Given the description of an element on the screen output the (x, y) to click on. 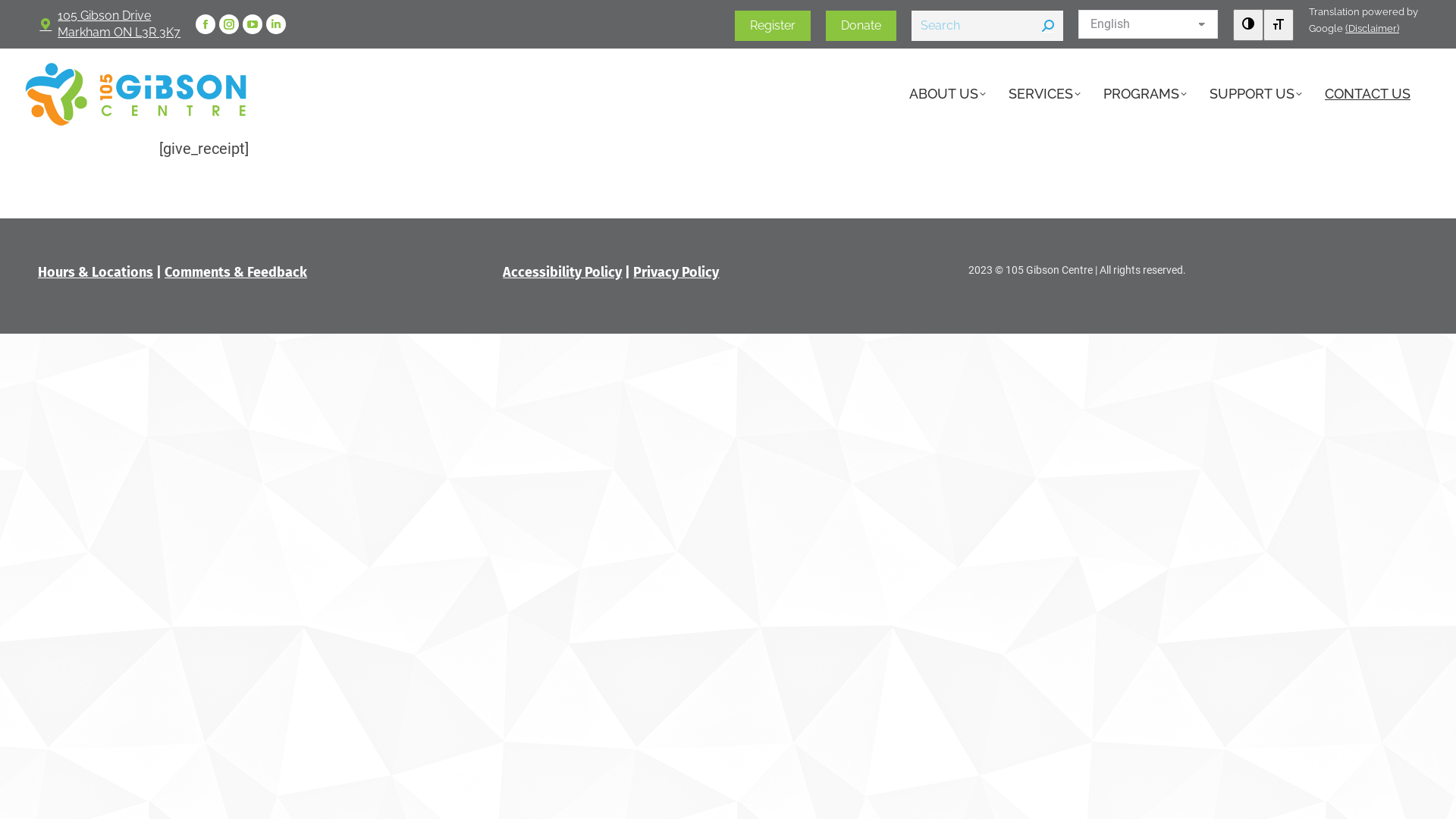
105 Gibson Drive
Markham ON L3R 3K7 Element type: text (108, 23)
Register Element type: text (772, 25)
SERVICES Element type: text (1055, 93)
Hours & Locations Element type: text (95, 271)
Linkedin page opens in new window Element type: text (275, 24)
Facebook page opens in new window Element type: text (205, 24)
PROGRAMS Element type: text (1156, 93)
SUPPORT US Element type: text (1266, 93)
Comments & Feedback Element type: text (235, 271)
Go! Element type: text (24, 15)
Donate Element type: text (860, 25)
Accessibility Policy Element type: text (561, 271)
CONTACT US Element type: text (1378, 93)
YouTube page opens in new window Element type: text (252, 24)
Privacy Policy Element type: text (675, 271)
(Disclaimer) Element type: text (1372, 28)
Instagram page opens in new window Element type: text (228, 24)
ABOUT US Element type: text (958, 93)
